Given the description of an element on the screen output the (x, y) to click on. 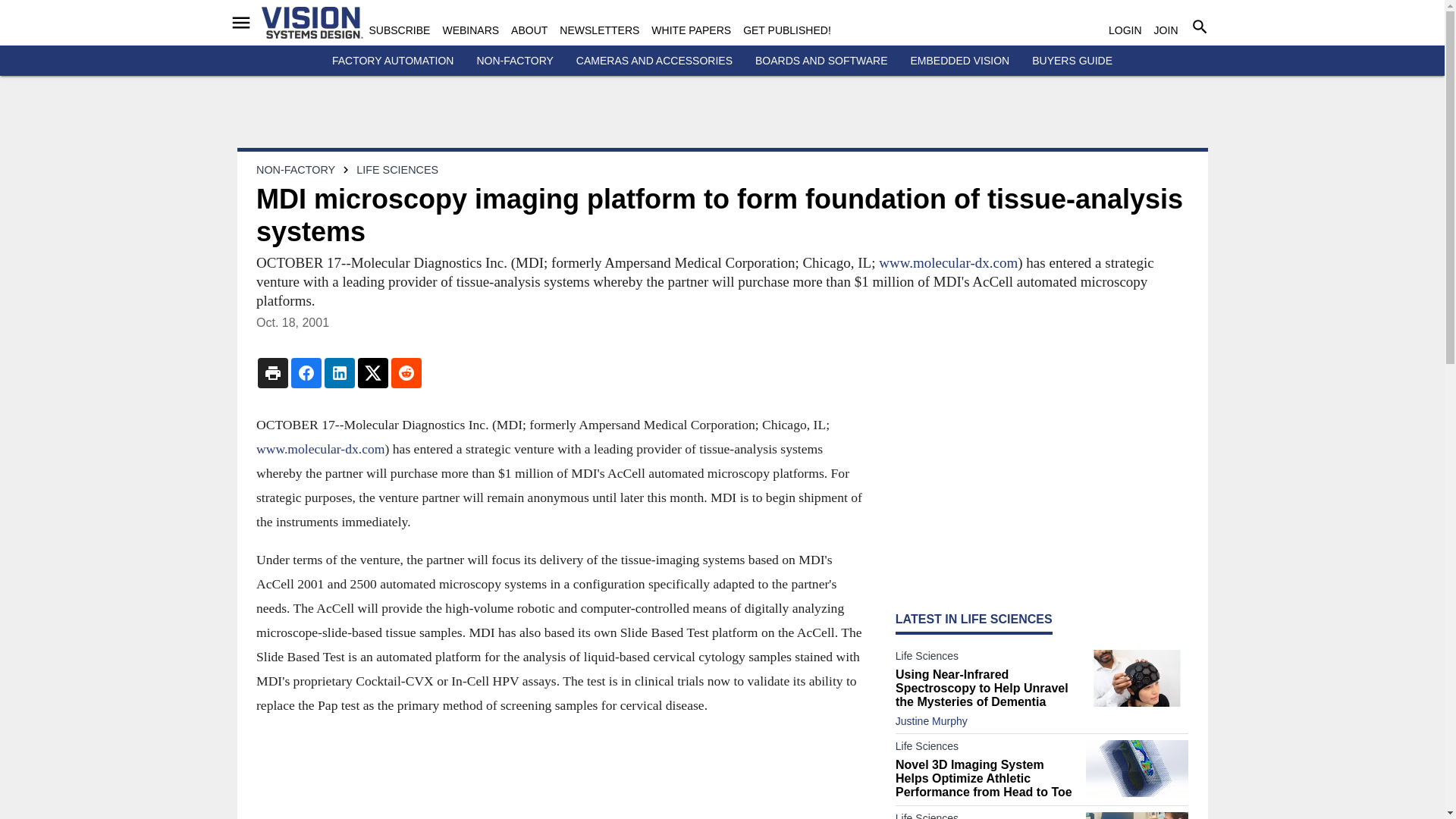
BUYERS GUIDE (1072, 60)
WEBINARS (470, 30)
GET PUBLISHED! (786, 30)
WHITE PAPERS (690, 30)
BOARDS AND SOFTWARE (821, 60)
SUBSCRIBE (398, 30)
NON-FACTORY (514, 60)
CAMERAS AND ACCESSORIES (654, 60)
FACTORY AUTOMATION (392, 60)
JOIN (1165, 30)
